Given the description of an element on the screen output the (x, y) to click on. 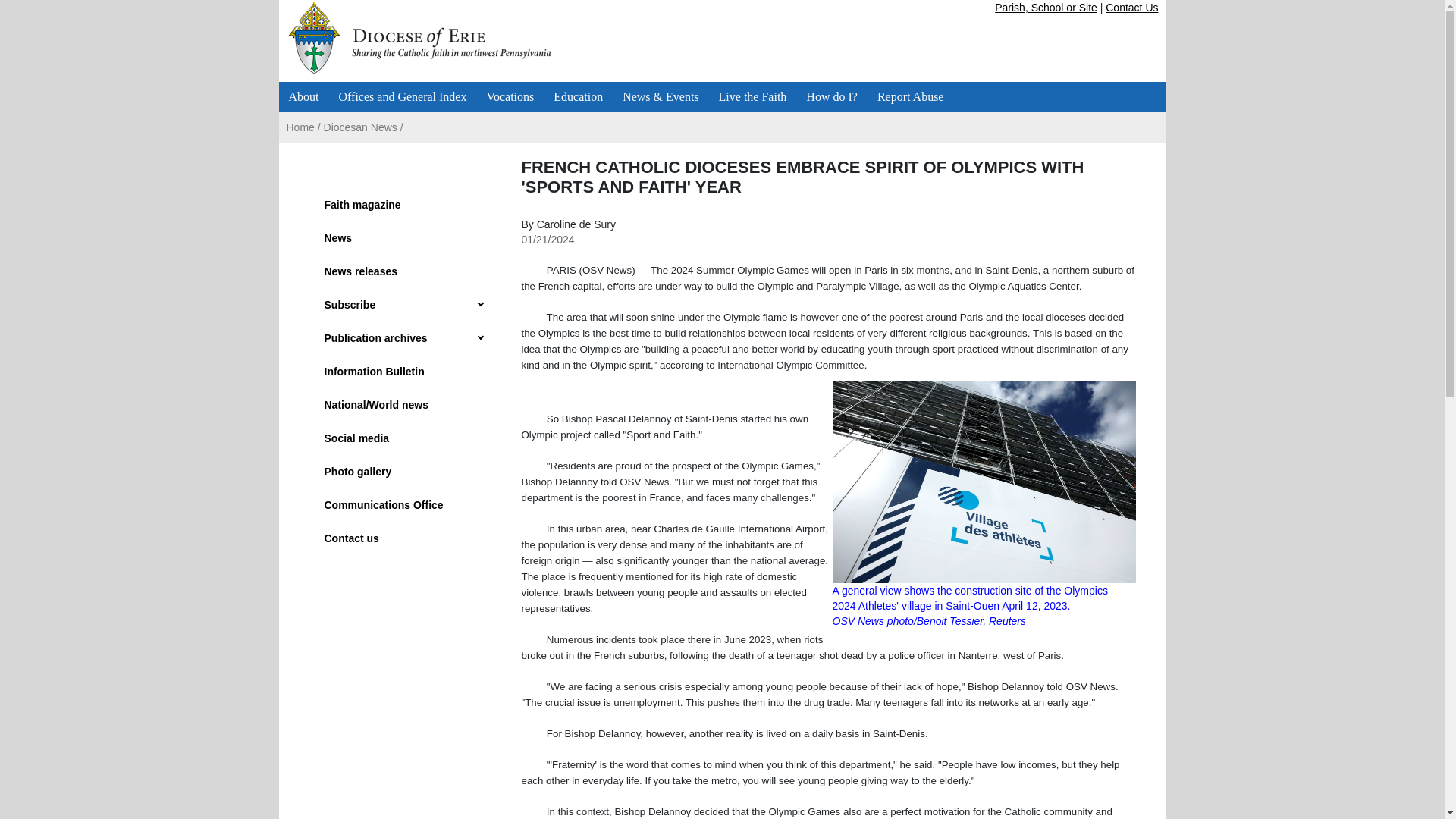
About (304, 96)
Education (577, 96)
Contact Us (1131, 7)
Parish, School or Site (1045, 7)
Offices and General Index (403, 96)
Offices and General Index (403, 96)
About (304, 96)
Vocations (509, 96)
Contact Us (1131, 7)
Vocations (509, 96)
Parish, School or Site (1045, 7)
